Given the description of an element on the screen output the (x, y) to click on. 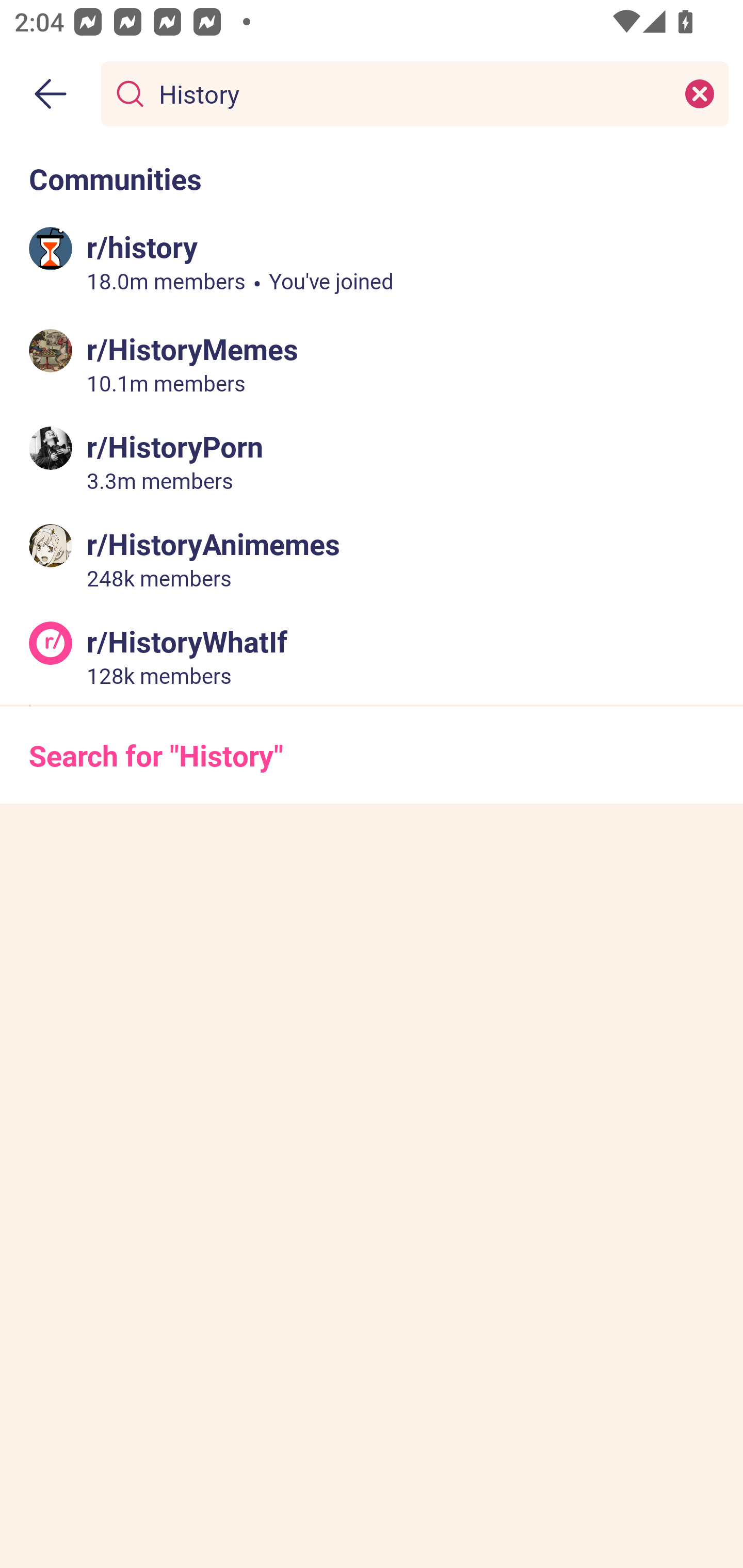
Back (50, 93)
History (410, 93)
Clear search (699, 93)
r/HistoryMemes 10.1m members 10.1 million members (371, 363)
r/HistoryPorn 3.3m members 3.3 million members (371, 460)
r/HistoryWhatIf 128k members 128 thousand members (371, 655)
Search for "History" (371, 754)
